Given the description of an element on the screen output the (x, y) to click on. 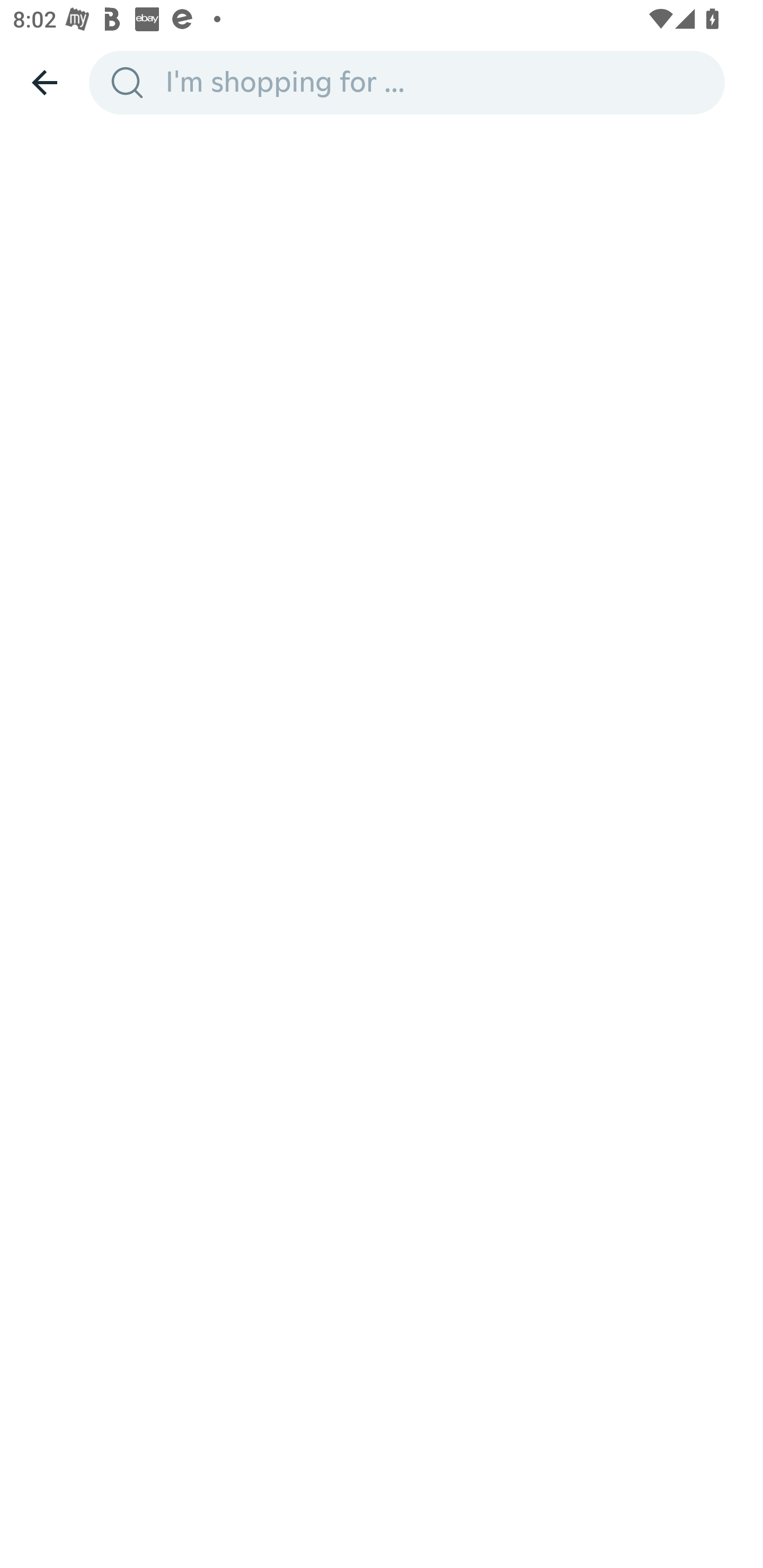
Navigate up (44, 82)
I'm shopping for ... (438, 81)
